Given the description of an element on the screen output the (x, y) to click on. 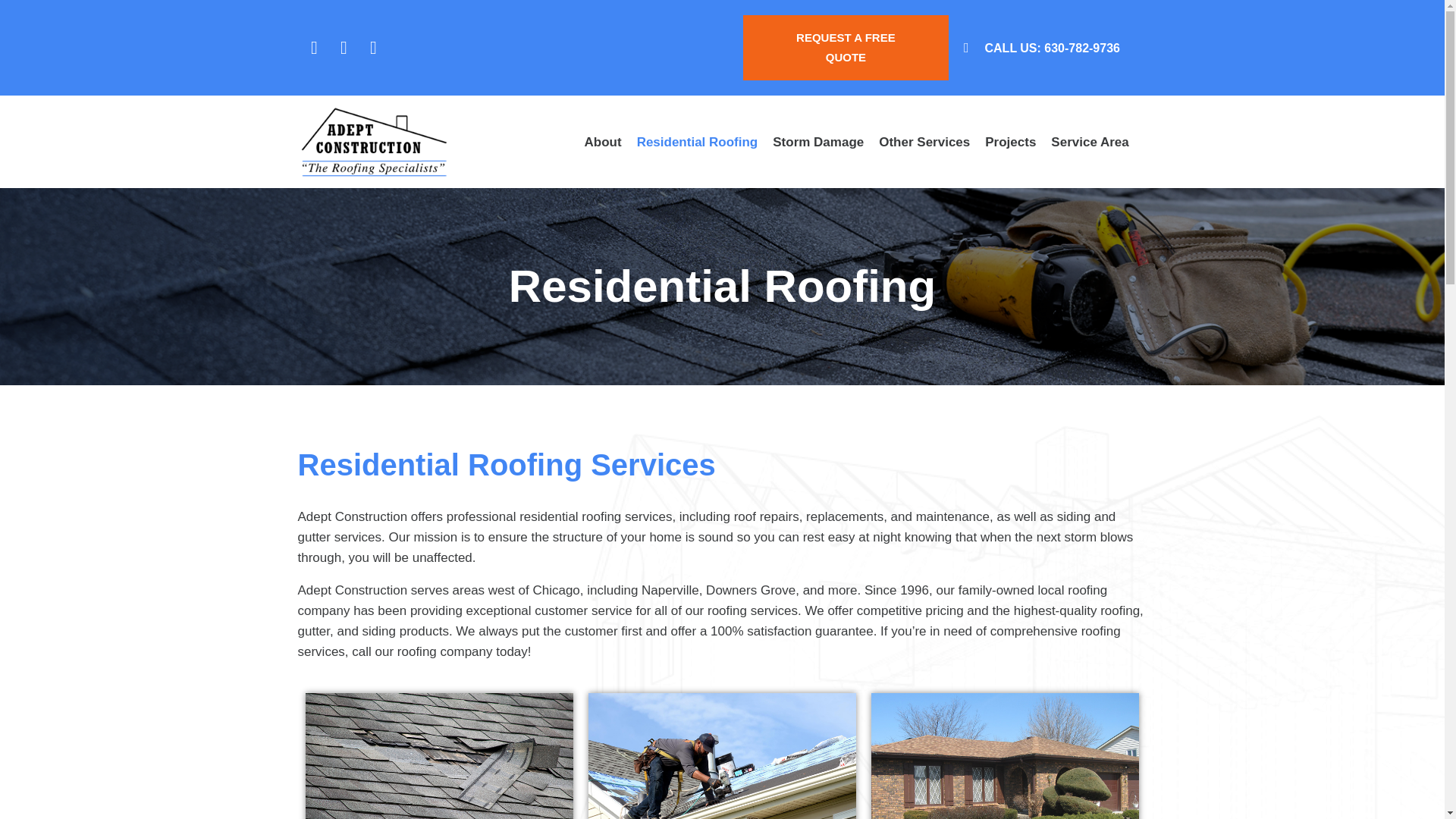
About (603, 141)
Other Services (924, 141)
REQUEST A FREE QUOTE (845, 47)
Residential Roofing (697, 141)
CALL US: 630-782-9736 (1047, 47)
Storm Damage (818, 141)
